Given the description of an element on the screen output the (x, y) to click on. 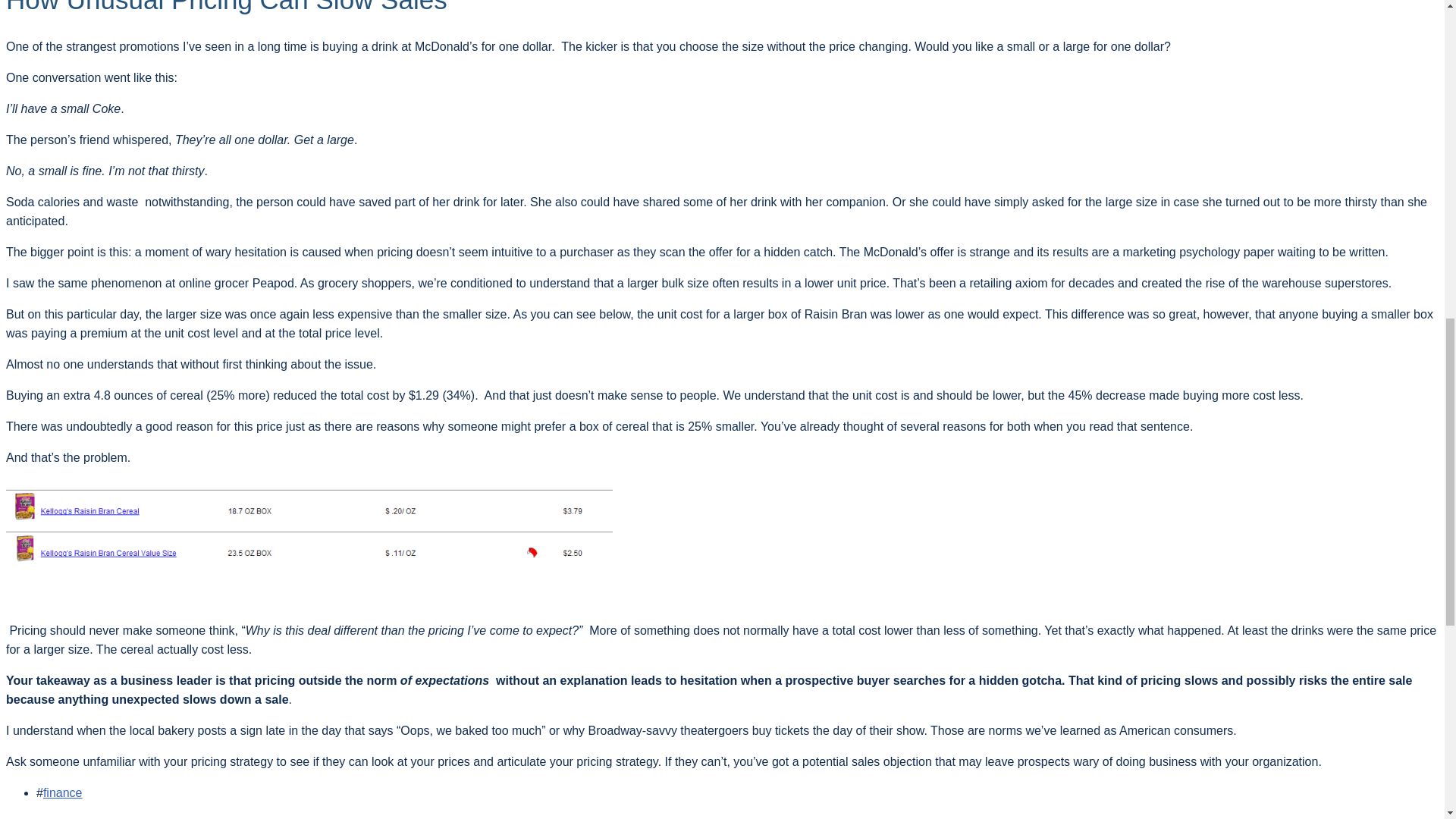
finance (62, 792)
Previous Post (43, 818)
